Given the description of an element on the screen output the (x, y) to click on. 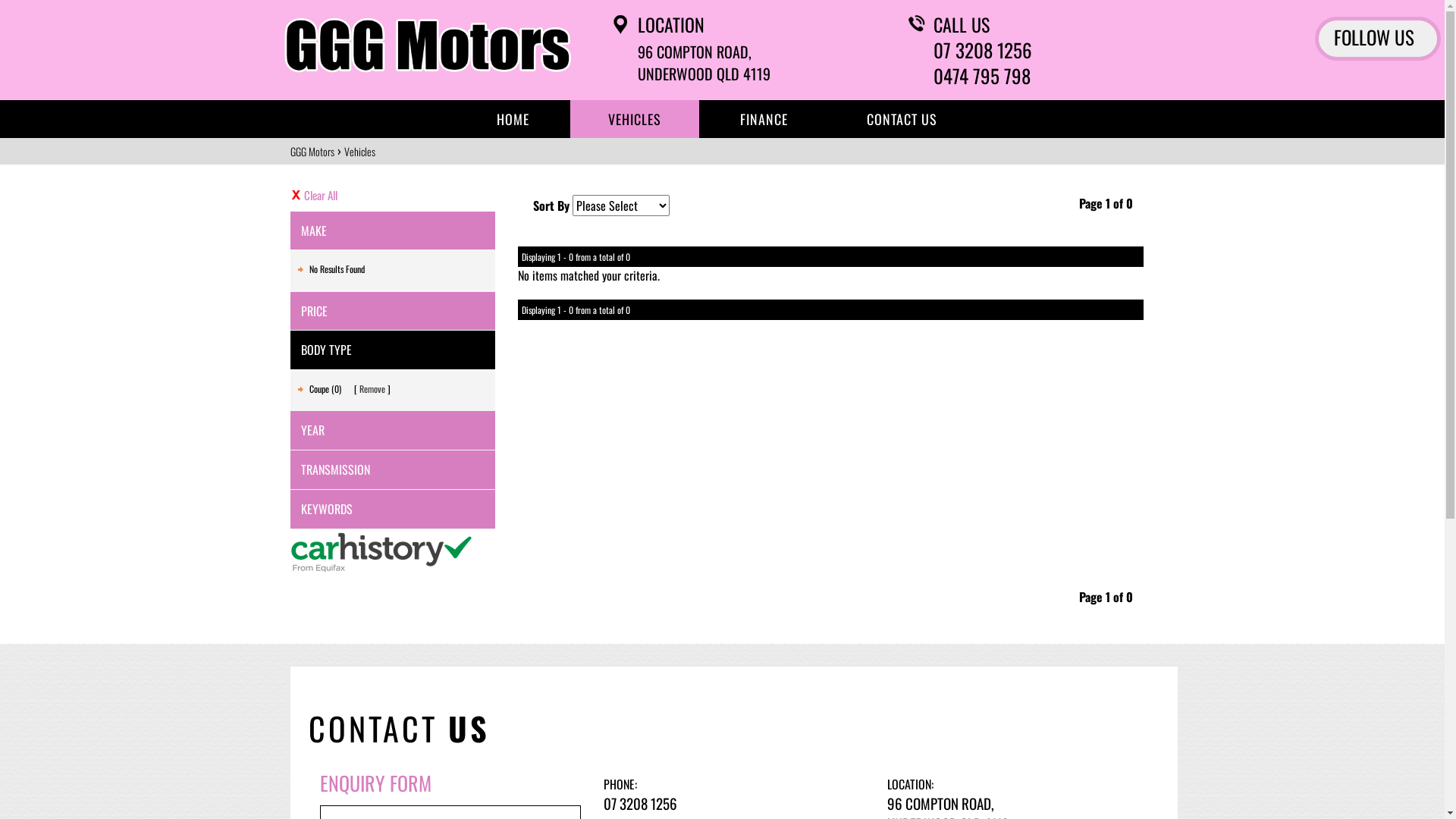
GGG Motors Element type: text (311, 151)
Clear All Element type: text (391, 195)
07 3208 1256 Element type: text (640, 802)
0474 795 798 Element type: text (1043, 75)
Vehicles Element type: text (359, 151)
96 COMPTON ROAD,
UNDERWOOD QLD 4119 Element type: text (703, 62)
GG Motors Element type: hover (426, 45)
FINANCE Element type: text (763, 119)
CONTACT US Element type: text (901, 119)
HOME Element type: text (512, 119)
07 3208 1256 Element type: text (1043, 49)
VEHICLES Element type: text (634, 119)
Remove Element type: text (372, 388)
